Given the description of an element on the screen output the (x, y) to click on. 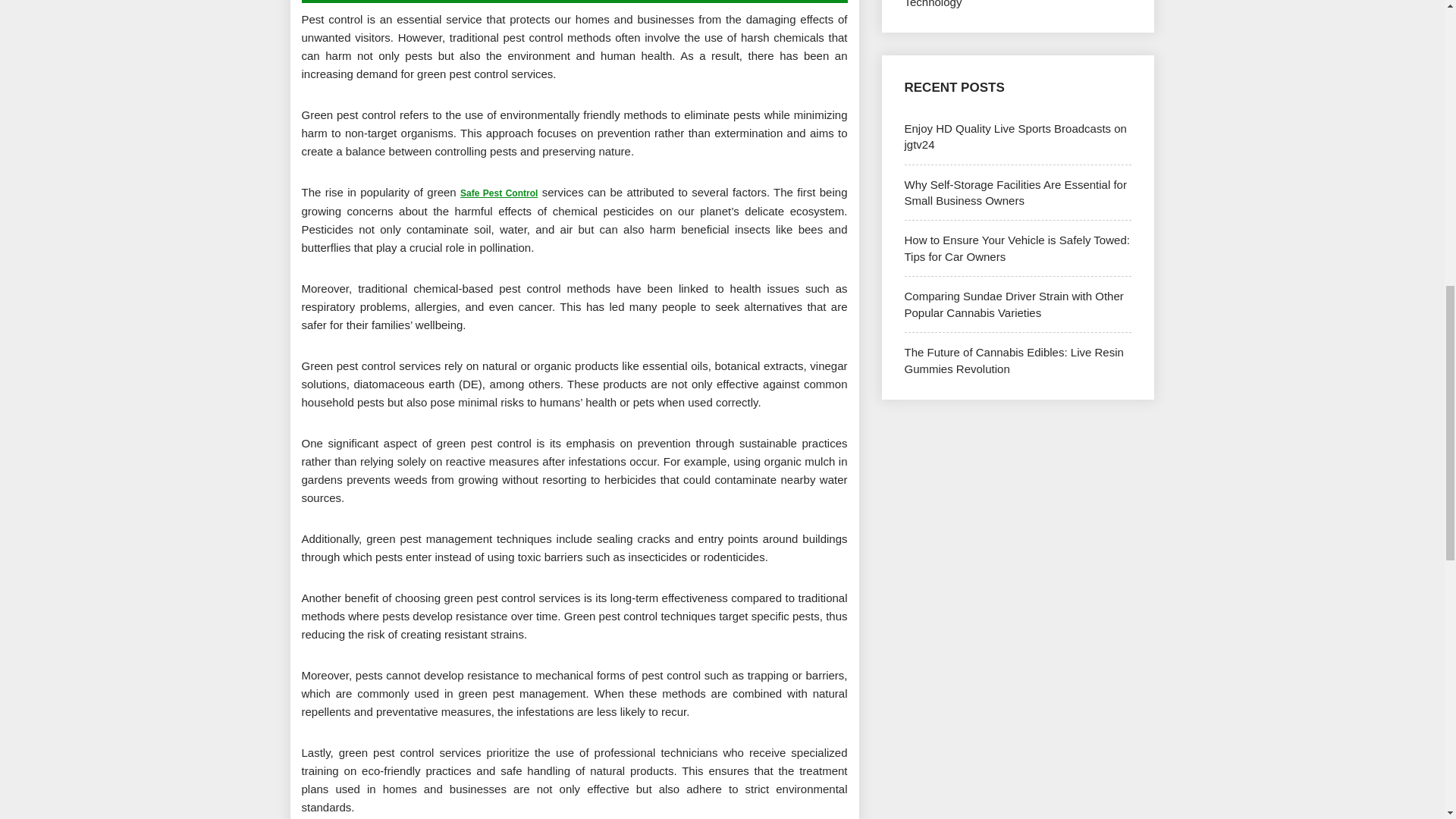
Technology (932, 4)
Safe Pest Control (498, 193)
